Given the description of an element on the screen output the (x, y) to click on. 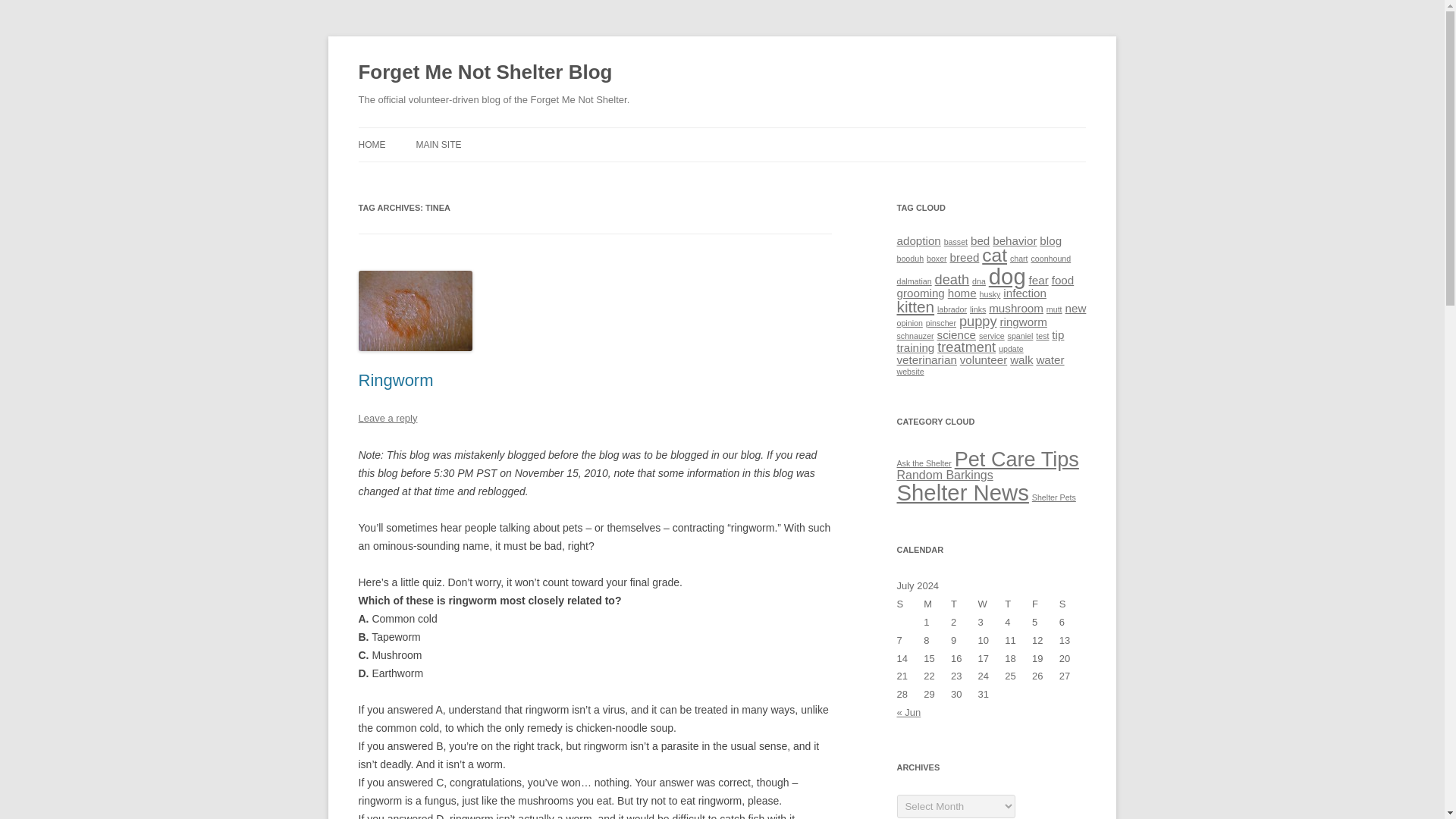
Tuesday (964, 604)
Saturday (1072, 604)
Thursday (1018, 604)
HOME (371, 144)
Wednesday (992, 604)
Leave a reply (387, 418)
Friday (1045, 604)
Sunday (909, 604)
MAIN SITE (437, 144)
Monday (936, 604)
Ringworm (395, 380)
Forget Me Not Shelter Blog (484, 72)
